Given the description of an element on the screen output the (x, y) to click on. 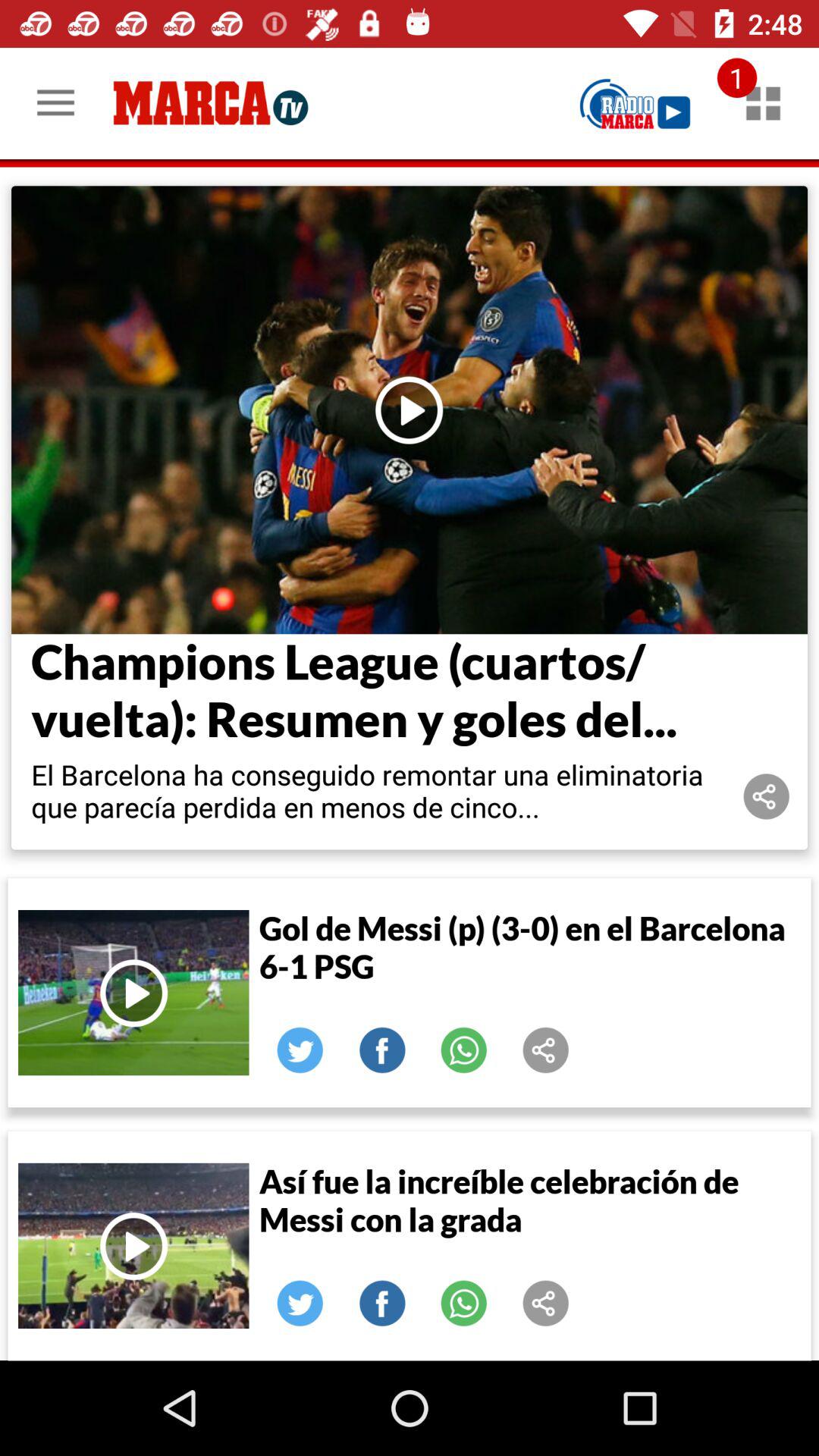
play the video (133, 992)
